Given the description of an element on the screen output the (x, y) to click on. 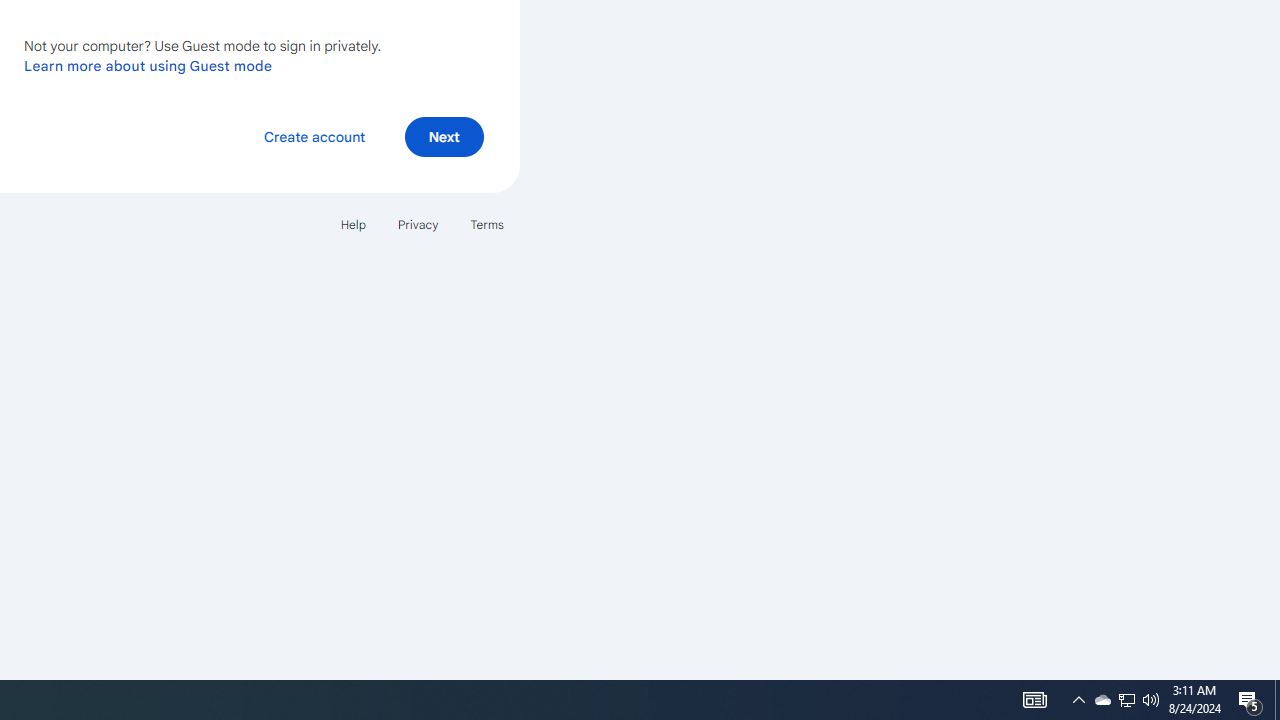
Learn more about using Guest mode (148, 65)
Create account (314, 135)
